Given the description of an element on the screen output the (x, y) to click on. 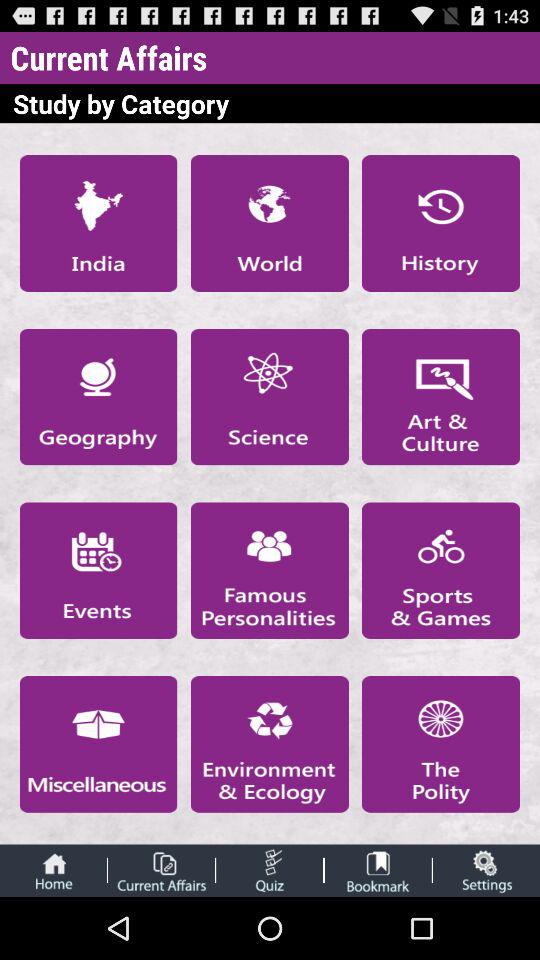
art culture category (441, 396)
